Given the description of an element on the screen output the (x, y) to click on. 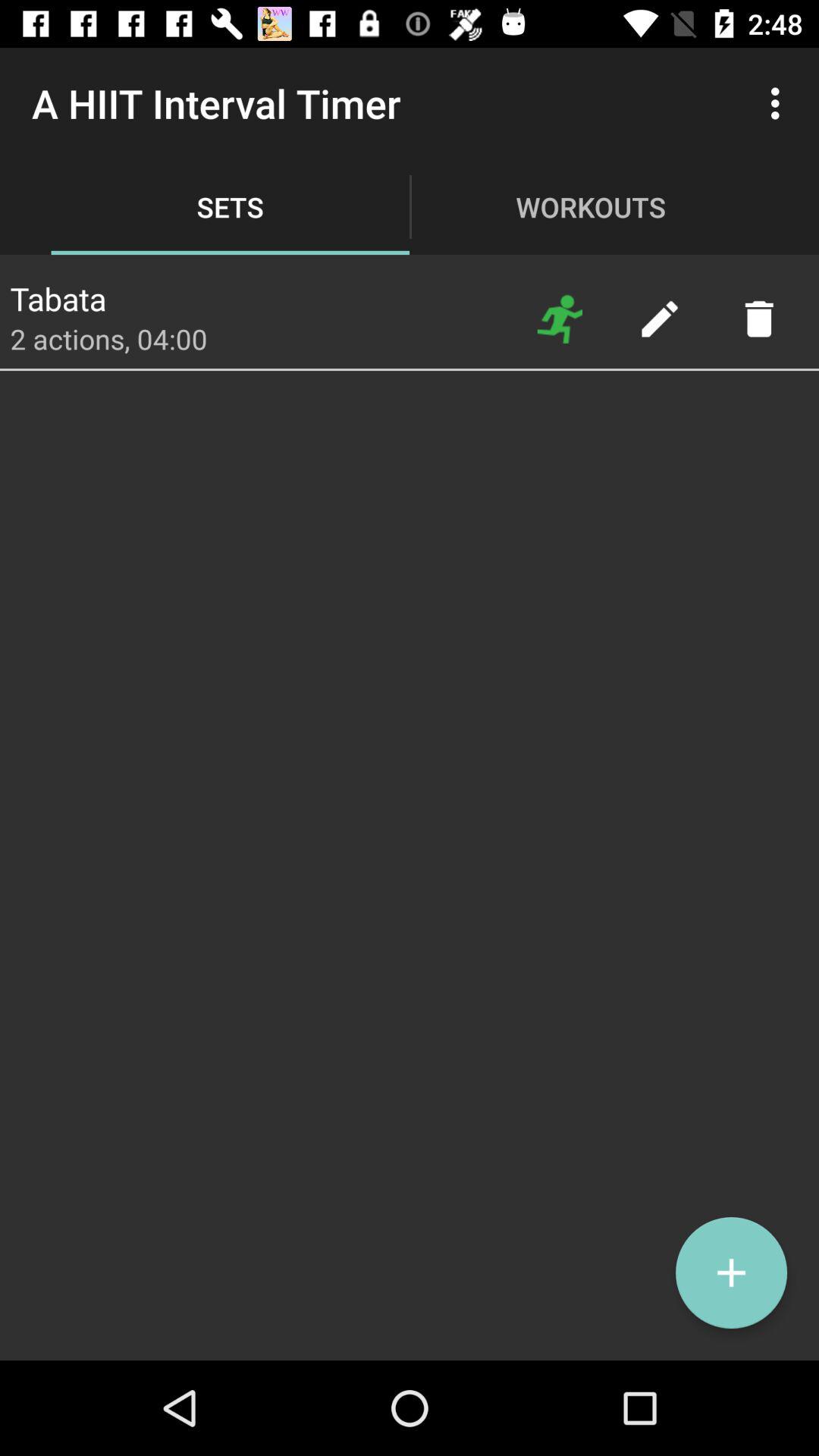
add new (731, 1272)
